Given the description of an element on the screen output the (x, y) to click on. 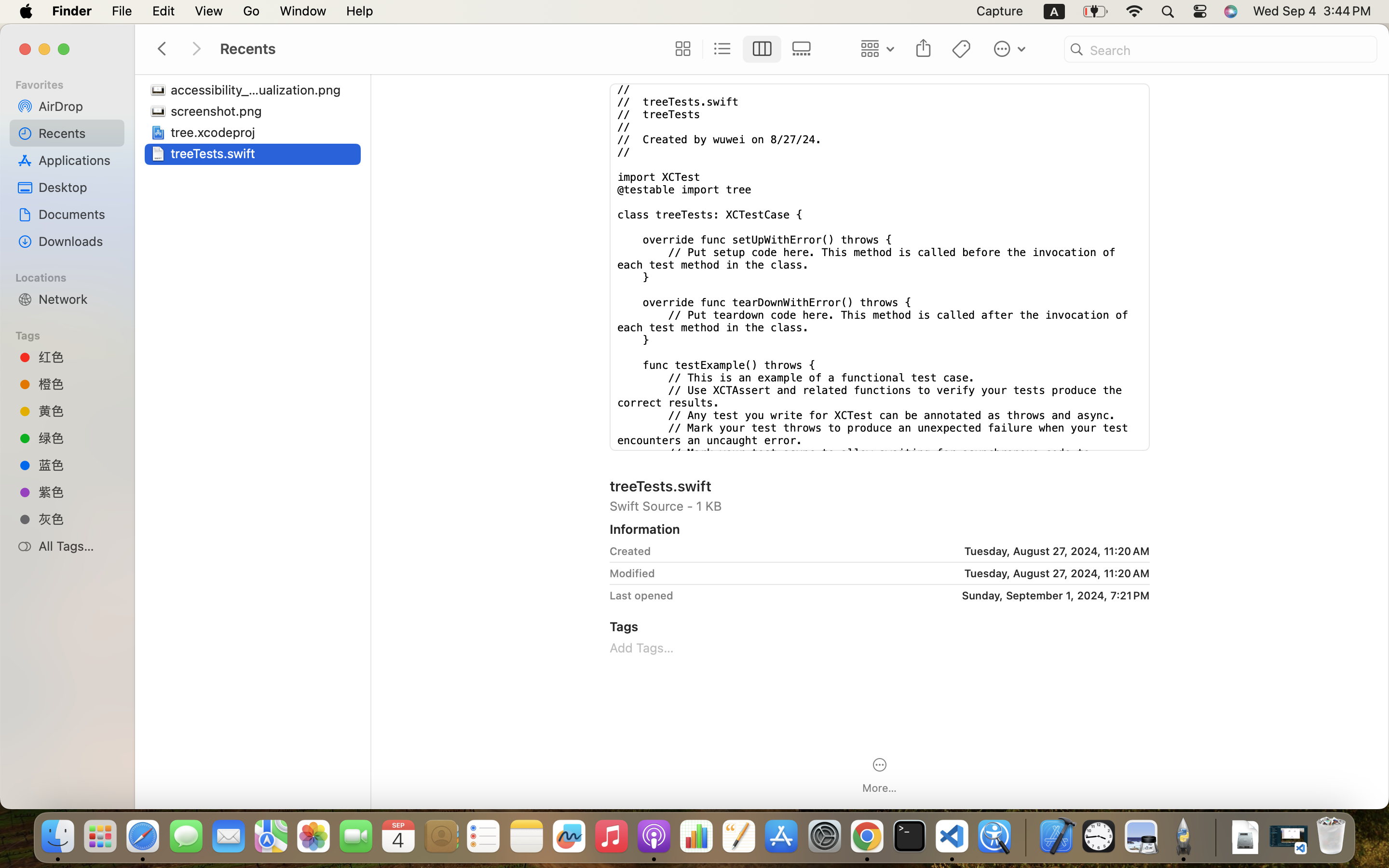
1 Element type: AXRadioButton (762, 48)
Last opened Element type: AXStaticText (641, 594)
灰色 Element type: AXStaticText (77, 518)
蓝色 Element type: AXStaticText (77, 464)
Recents Element type: AXStaticText (77, 132)
